Given the description of an element on the screen output the (x, y) to click on. 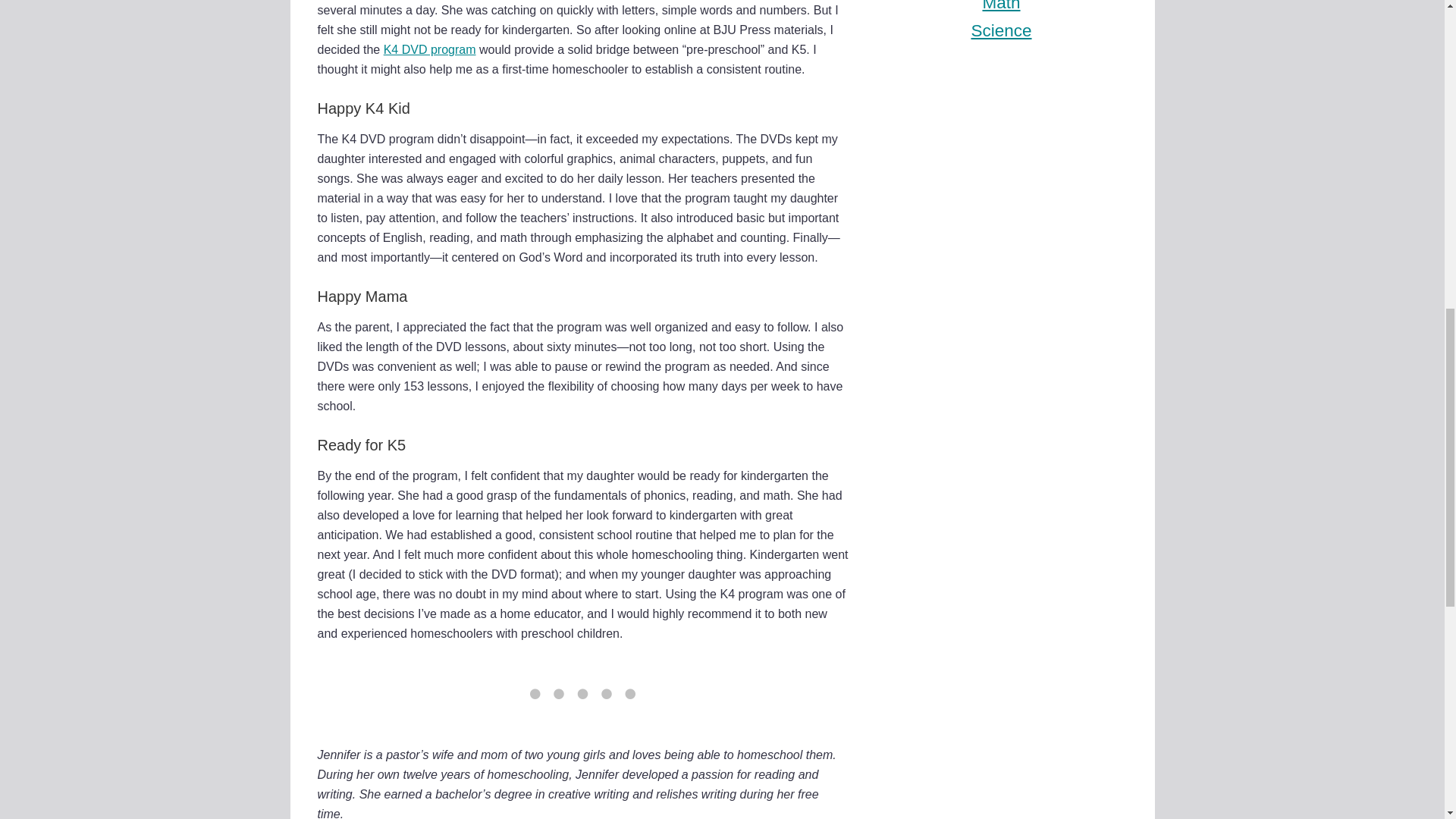
Math (1000, 6)
K4 DVD program (430, 49)
Science (1000, 30)
